Given the description of an element on the screen output the (x, y) to click on. 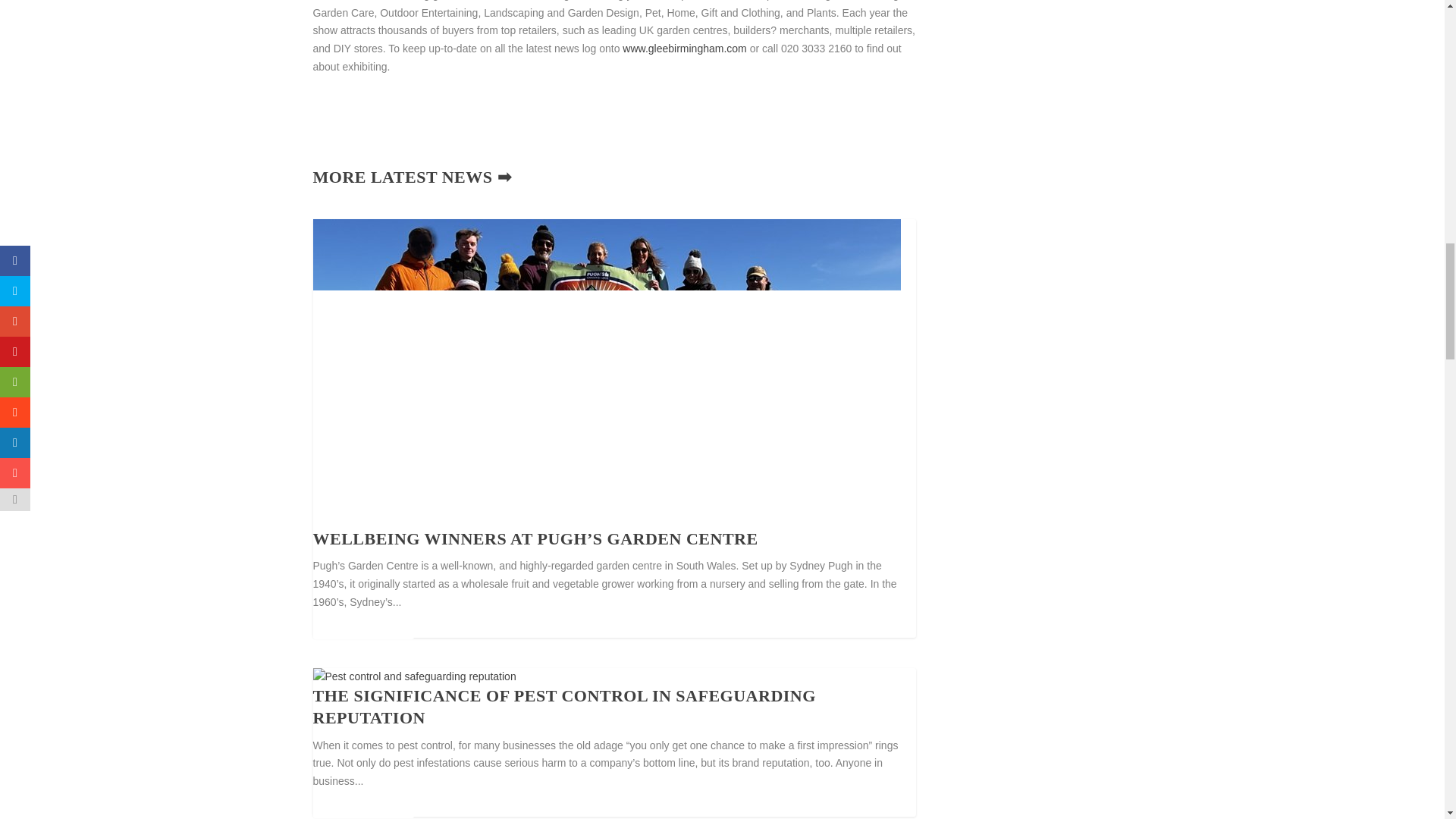
www.gleebirmingham.com (684, 48)
Read More (363, 624)
THE SIGNIFICANCE OF PEST CONTROL IN SAFEGUARDING REPUTATION (564, 706)
Read More (363, 803)
